Given the description of an element on the screen output the (x, y) to click on. 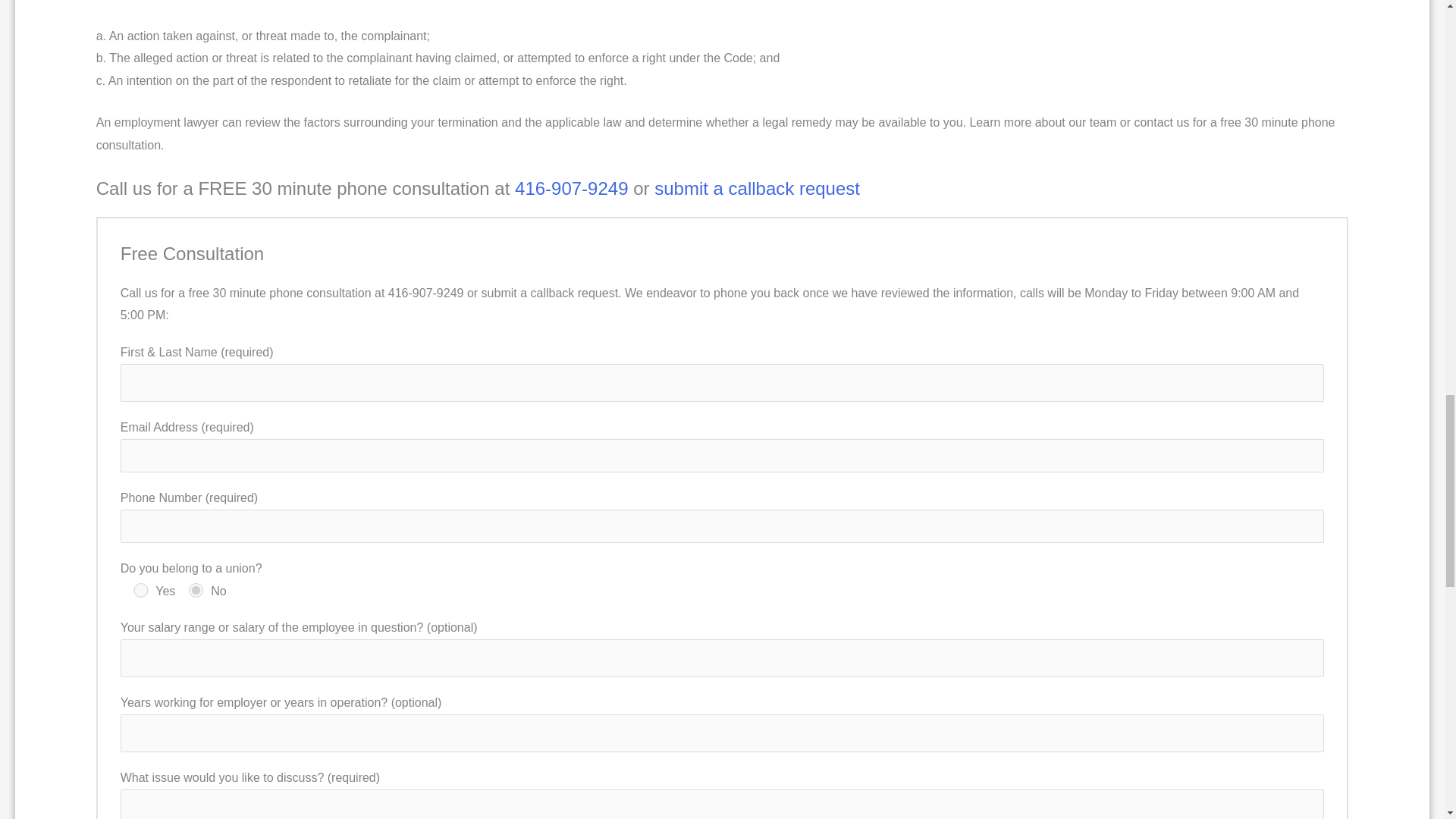
Yes (140, 590)
No (195, 590)
